Given the description of an element on the screen output the (x, y) to click on. 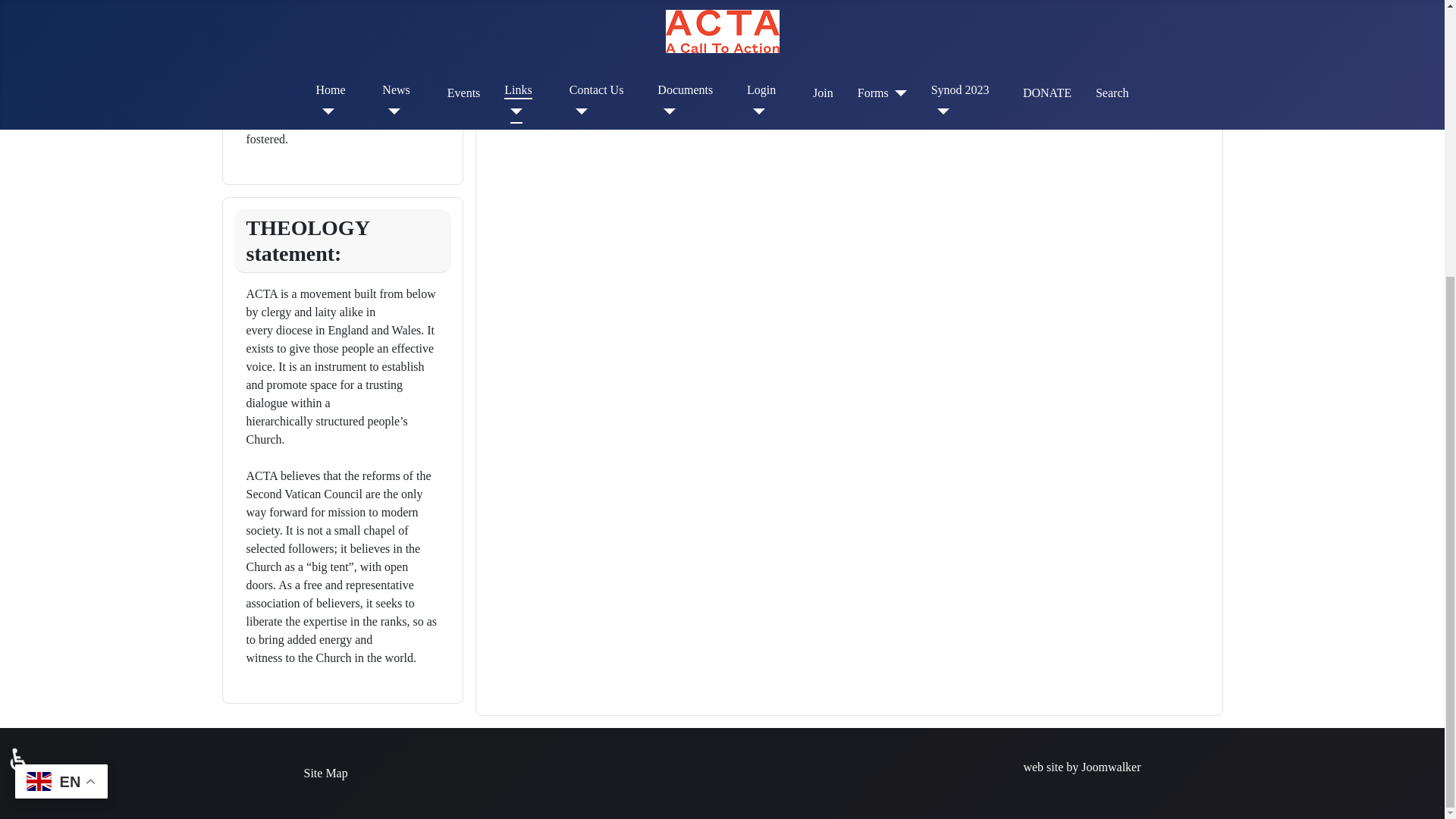
Joomwalker (1110, 766)
